Given the description of an element on the screen output the (x, y) to click on. 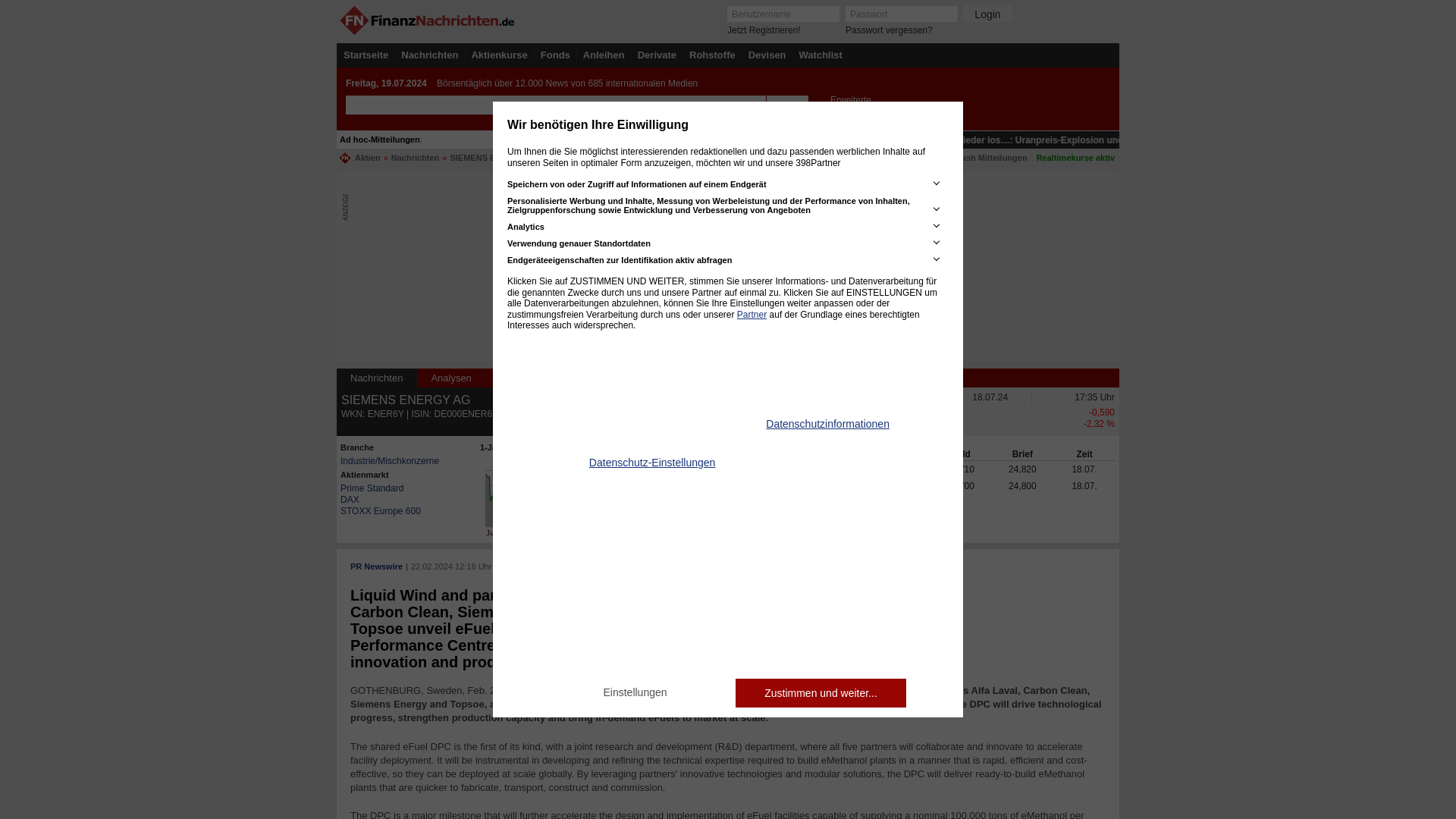
Login (986, 13)
Startseite (365, 55)
Passwort vergessen? (889, 30)
Jetzt Registrieren! (763, 30)
Nachrichten (429, 55)
Suchen (786, 104)
